Given the description of an element on the screen output the (x, y) to click on. 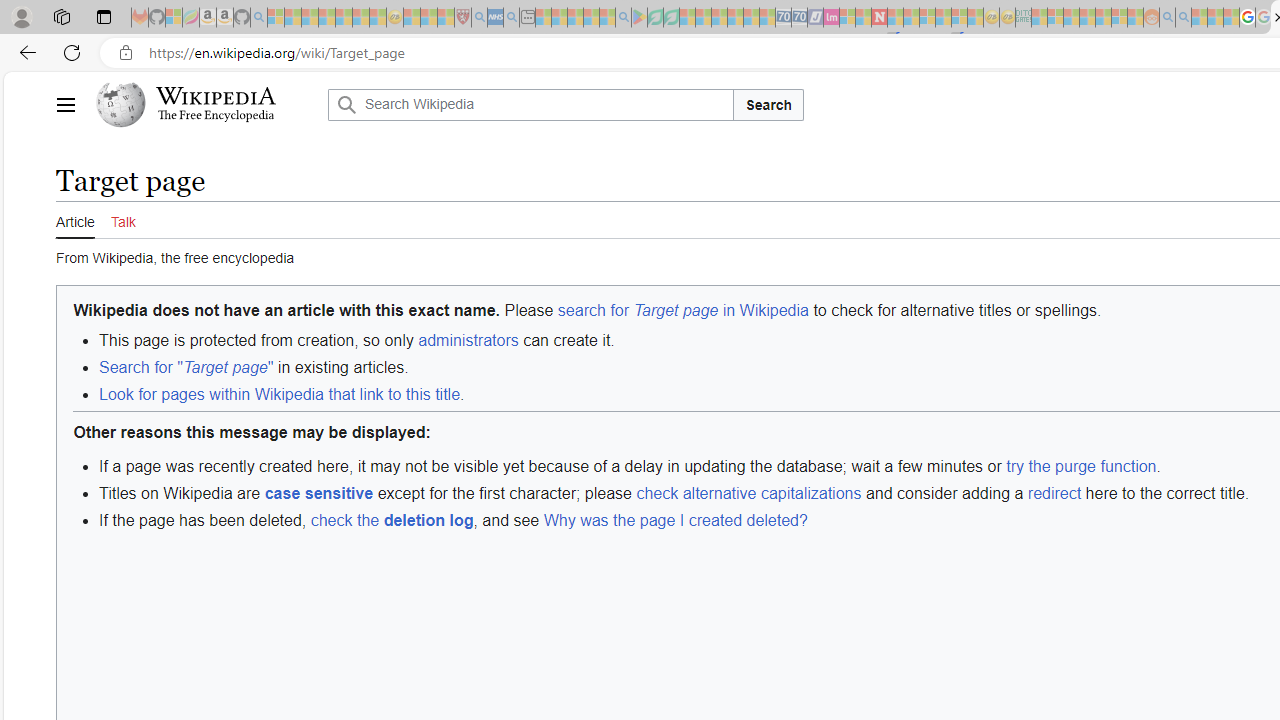
google - Search - Sleeping (623, 17)
